Given the description of an element on the screen output the (x, y) to click on. 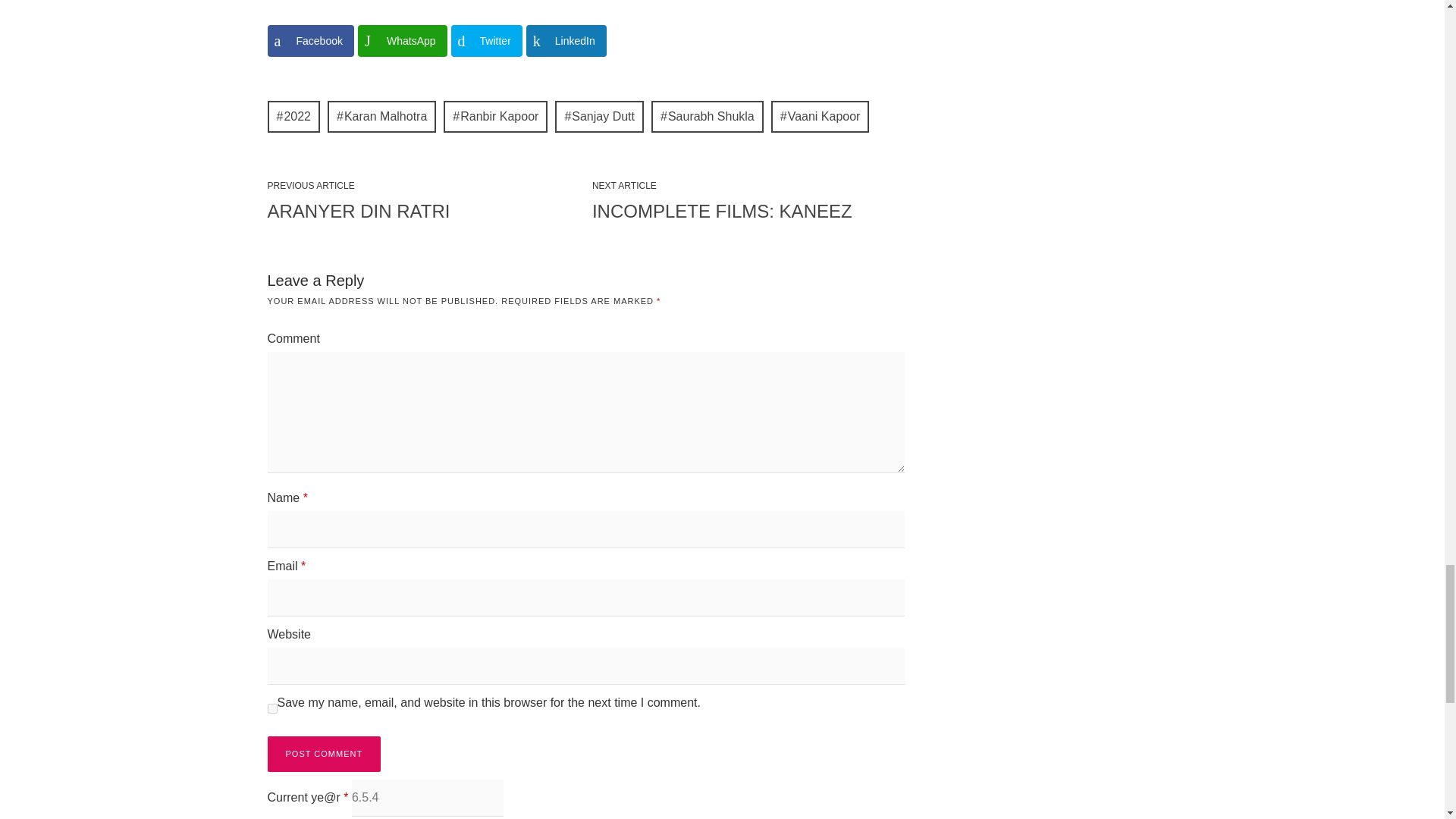
2022 (293, 116)
LinkedIn (566, 40)
Sanjay Dutt (598, 116)
Karan Malhotra (381, 116)
WhatsApp (402, 40)
Share on WhatsApp (402, 40)
Vaani Kapoor (820, 116)
Share on Twitter (486, 40)
Saurabh Shukla (706, 116)
Facebook (309, 40)
Ranbir Kapoor (495, 116)
Share on LinkedIn (566, 40)
Post Comment (323, 754)
yes (271, 708)
Share on Facebook (309, 40)
